Given the description of an element on the screen output the (x, y) to click on. 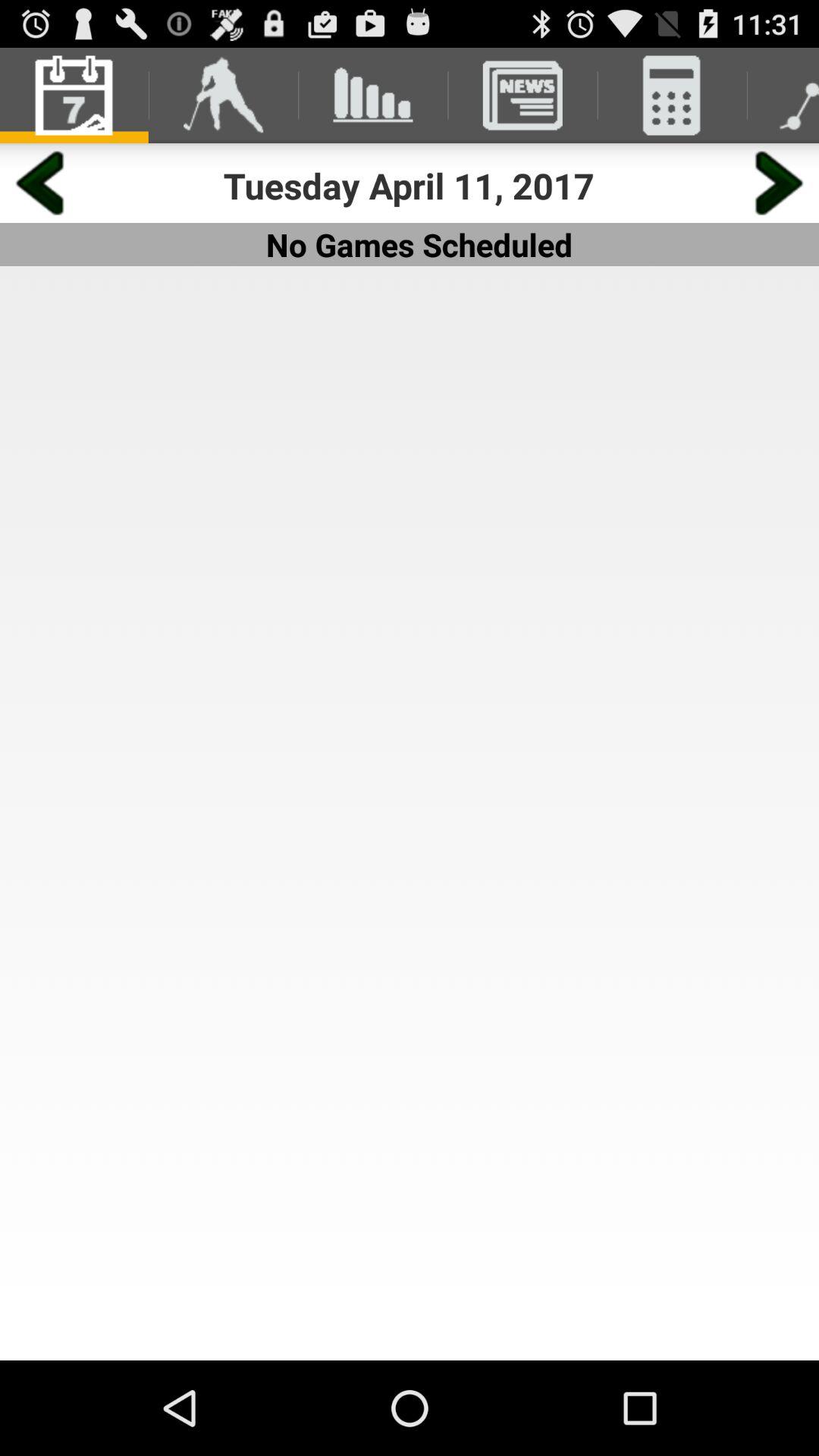
go back (39, 182)
